Given the description of an element on the screen output the (x, y) to click on. 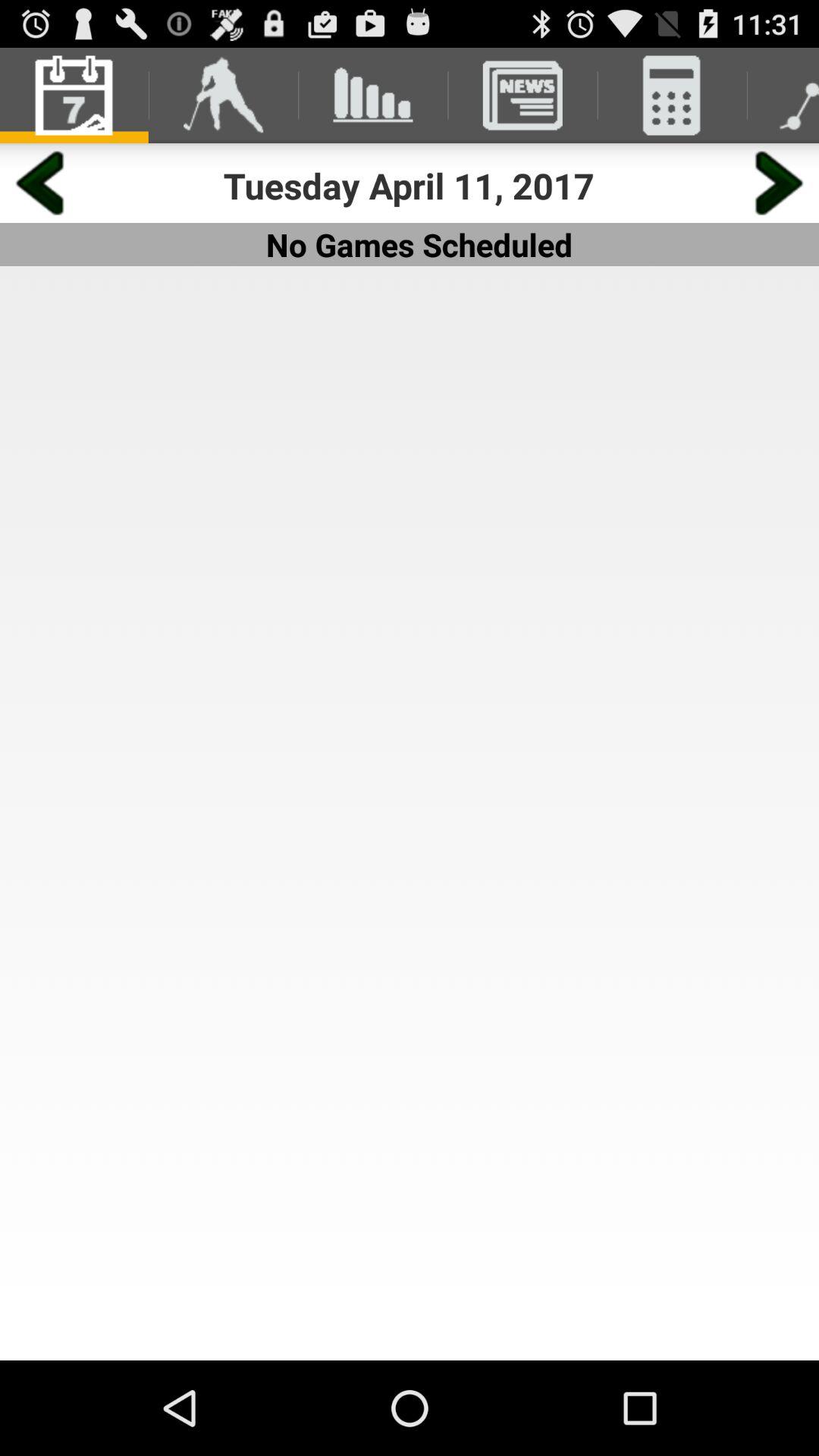
go back (39, 182)
